Given the description of an element on the screen output the (x, y) to click on. 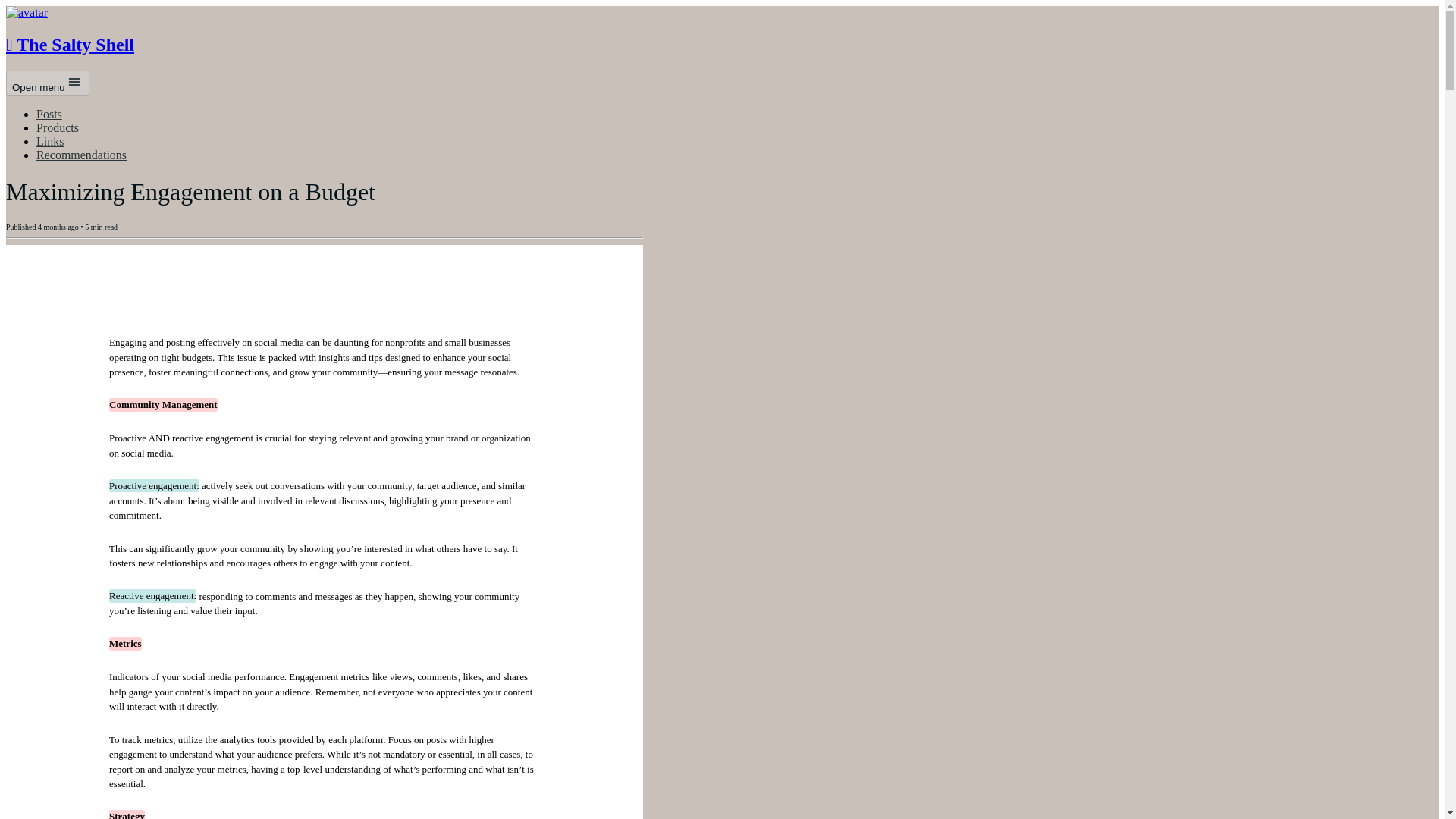
Recommendations (81, 154)
Menu (73, 81)
Posts (49, 113)
Open menuMenu (46, 82)
Products (57, 127)
Links (50, 141)
